Given the description of an element on the screen output the (x, y) to click on. 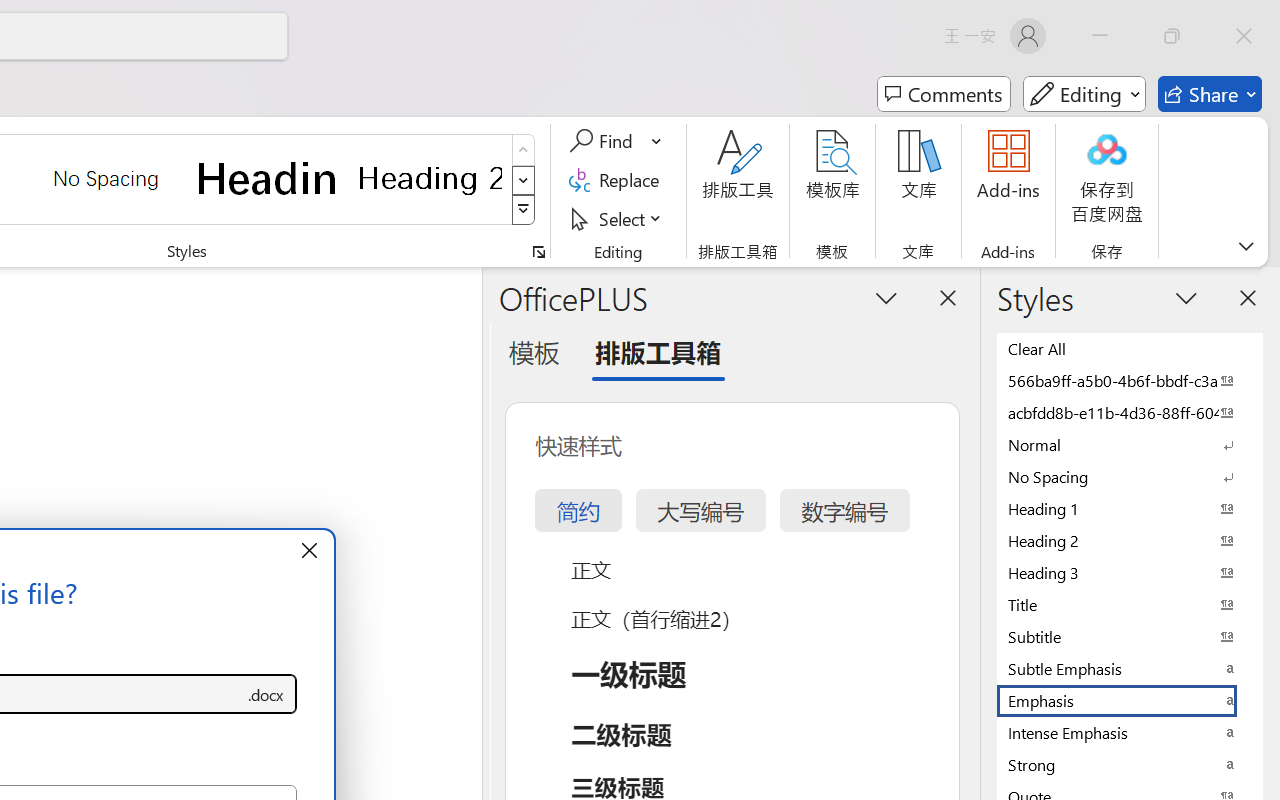
Intense Emphasis (1130, 732)
Ribbon Display Options (1246, 245)
Mode (1083, 94)
Comments (943, 94)
Title (1130, 604)
No Spacing (1130, 476)
acbfdd8b-e11b-4d36-88ff-6049b138f862 (1130, 412)
Find (616, 141)
Normal (1130, 444)
